Given the description of an element on the screen output the (x, y) to click on. 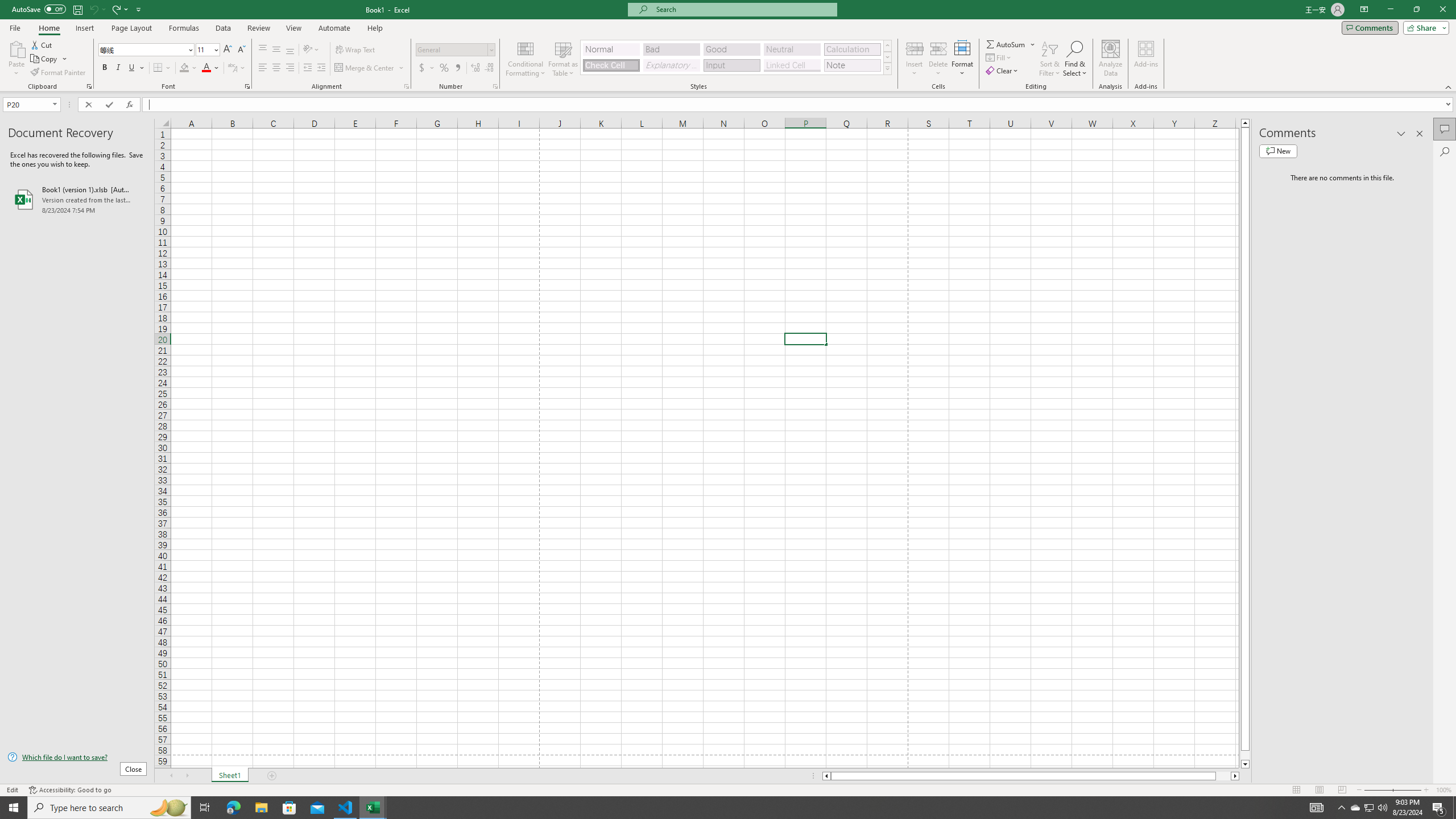
Scroll Left (171, 775)
Zoom (1392, 790)
Input (731, 65)
Sheet1 (229, 775)
File Tab (15, 27)
Neutral (791, 49)
Minimize (1390, 9)
Comments (1444, 128)
Merge & Center (365, 67)
Fill Color (188, 67)
Format (962, 58)
Home (48, 28)
